Given the description of an element on the screen output the (x, y) to click on. 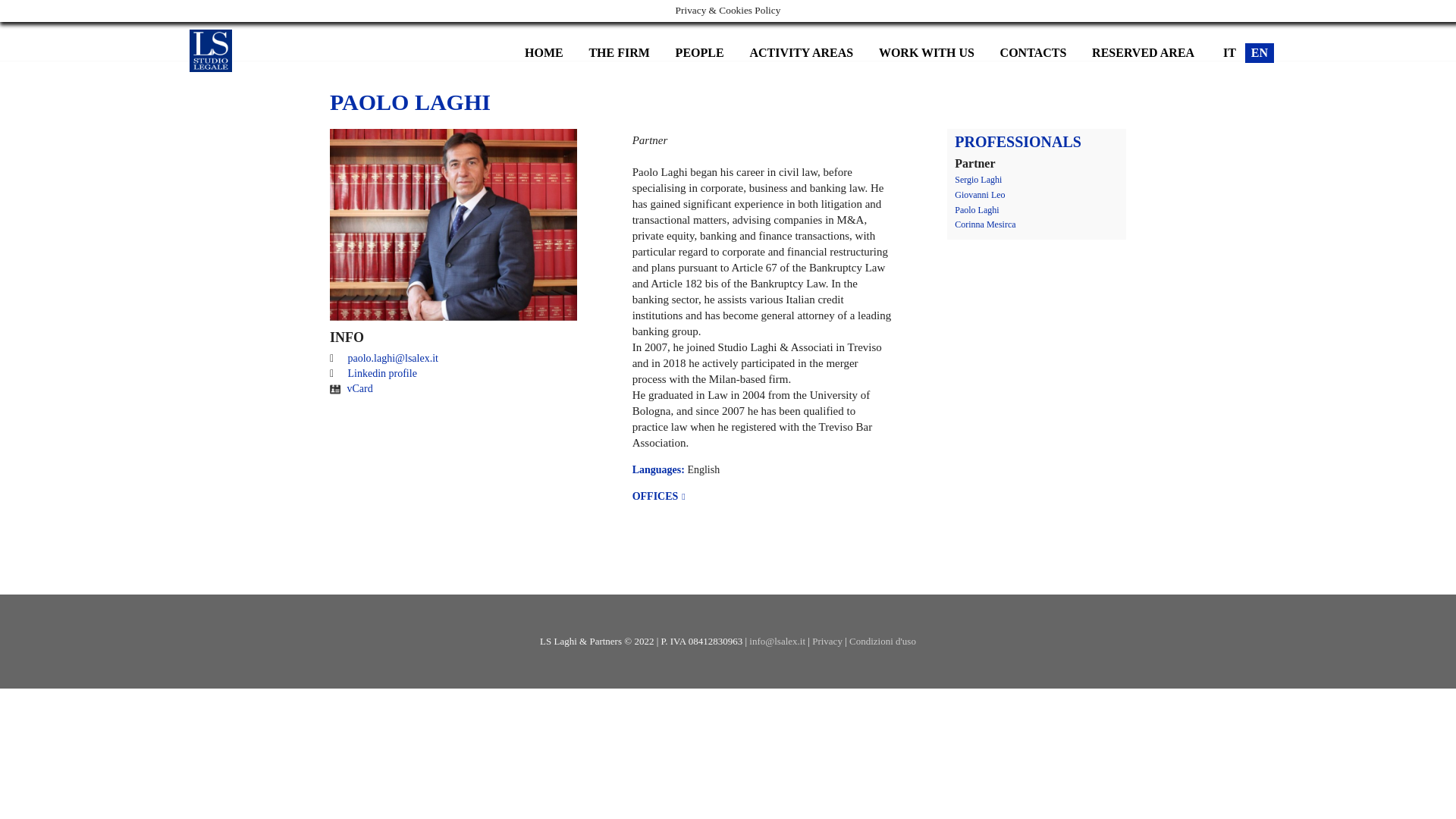
Sergio Laghi (978, 179)
THE FIRM (618, 52)
CONTACTS (1033, 52)
ACTIVITY AREAS (801, 52)
OFFICES (658, 496)
Sergio Laghi (978, 179)
PEOPLE (699, 52)
Corinna Mesirca (984, 224)
WORK WITH US (926, 52)
Linkedin profile (381, 373)
